Given the description of an element on the screen output the (x, y) to click on. 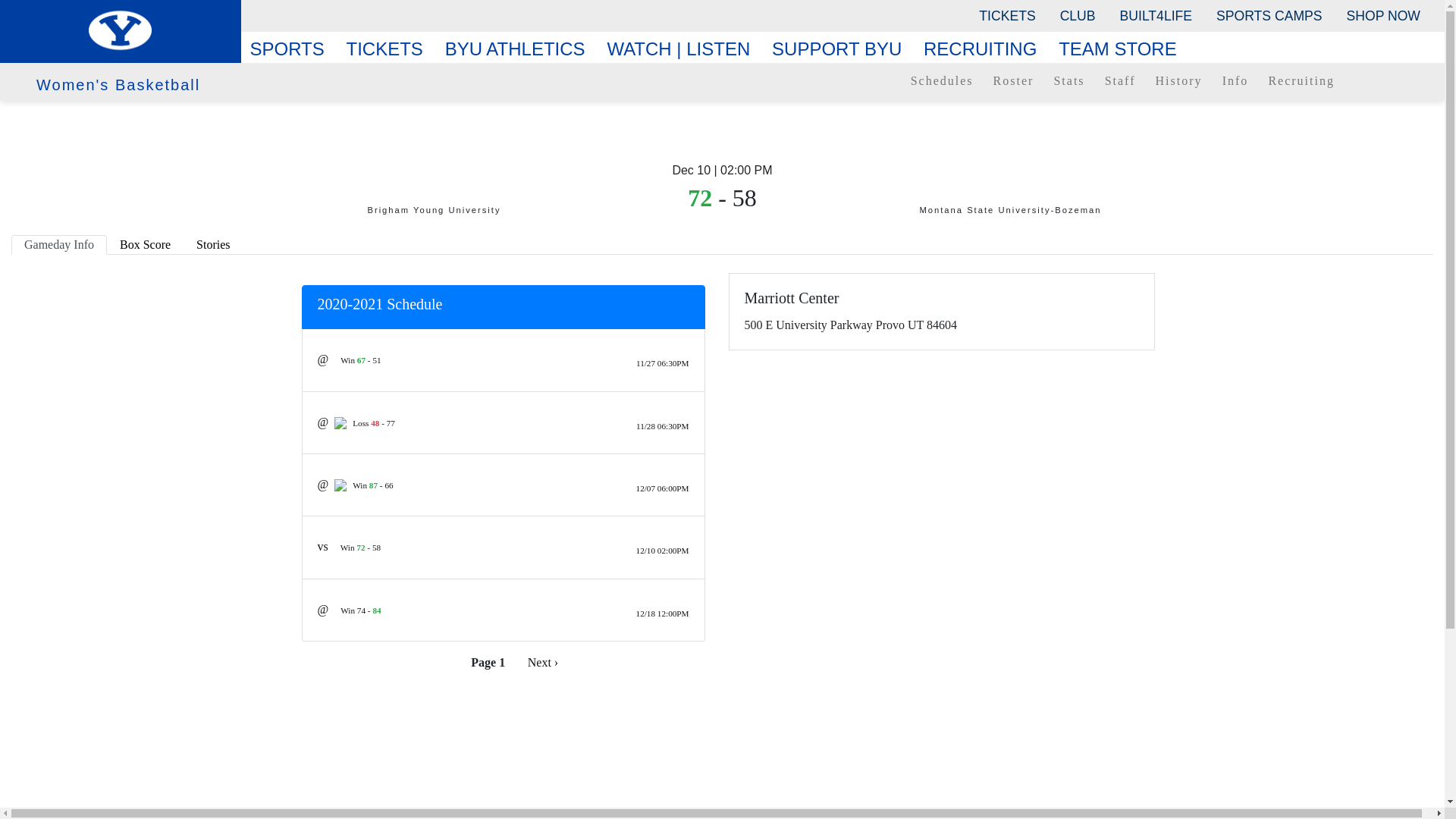
BUILT4LIFE (1156, 15)
TICKETS (1006, 15)
CLUB (1078, 15)
SPORTS CAMPS (1268, 15)
SPORTS (292, 49)
Go to next page (542, 662)
SHOP NOW (1383, 15)
